Given the description of an element on the screen output the (x, y) to click on. 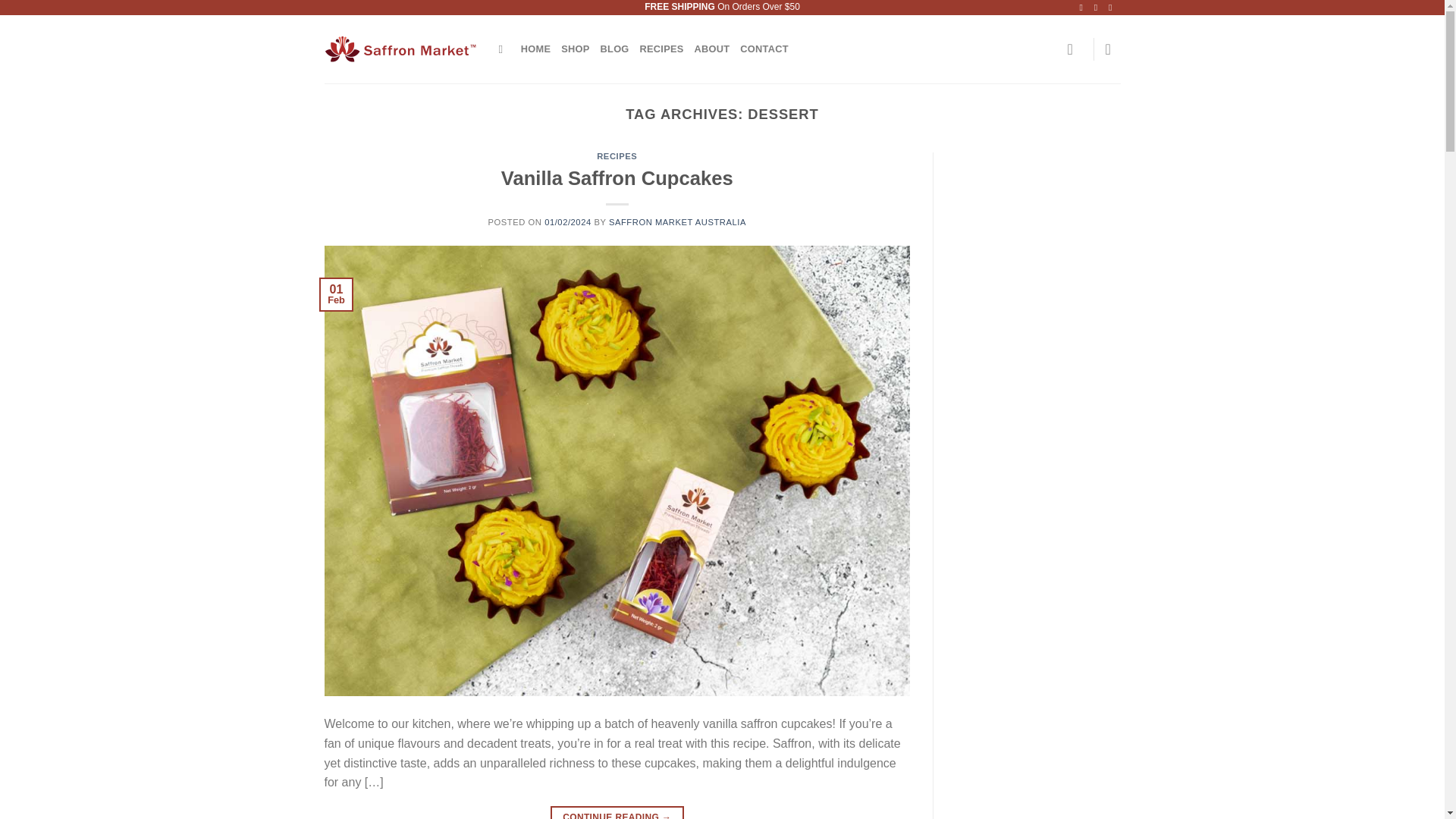
CONTACT (763, 49)
Vanilla Saffron Cupcakes (616, 178)
RECIPES (616, 155)
BLOG (613, 49)
Saffron Market (400, 49)
SAFFRON MARKET AUSTRALIA (676, 221)
SHOP (574, 49)
RECIPES (662, 49)
ABOUT (712, 49)
HOME (535, 49)
